Given the description of an element on the screen output the (x, y) to click on. 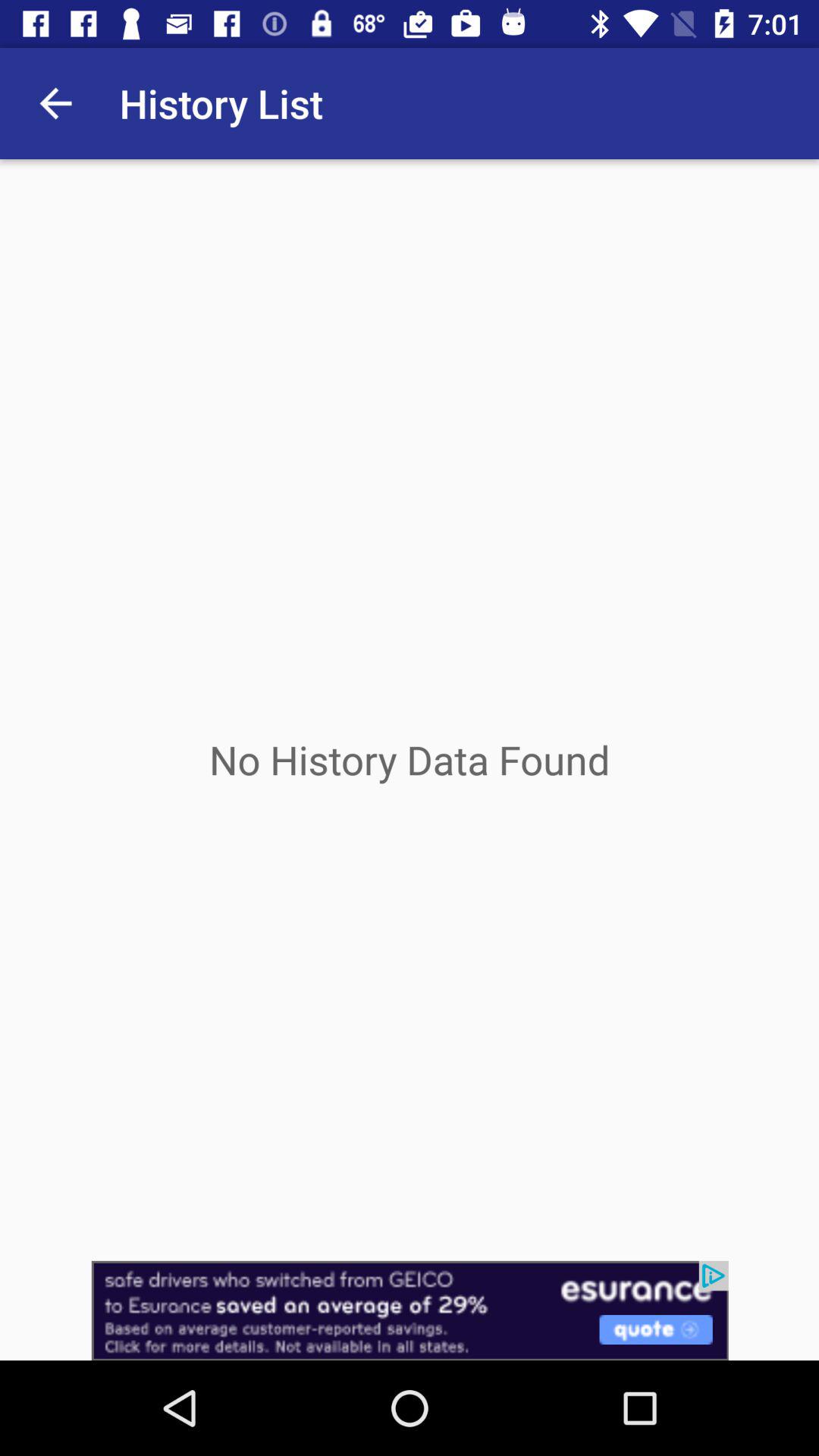
advertisement (409, 1310)
